Given the description of an element on the screen output the (x, y) to click on. 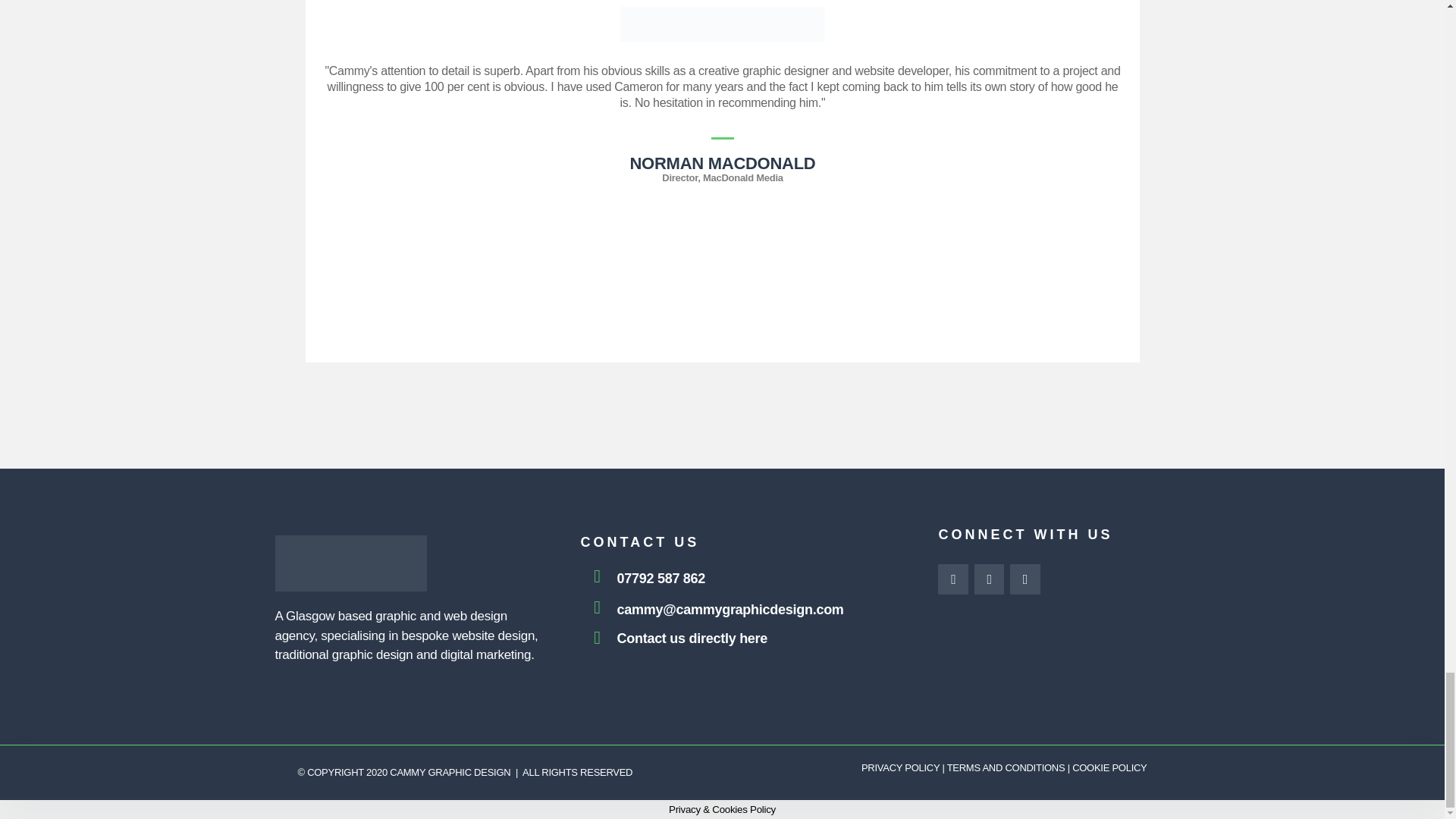
here (753, 638)
